Given the description of an element on the screen output the (x, y) to click on. 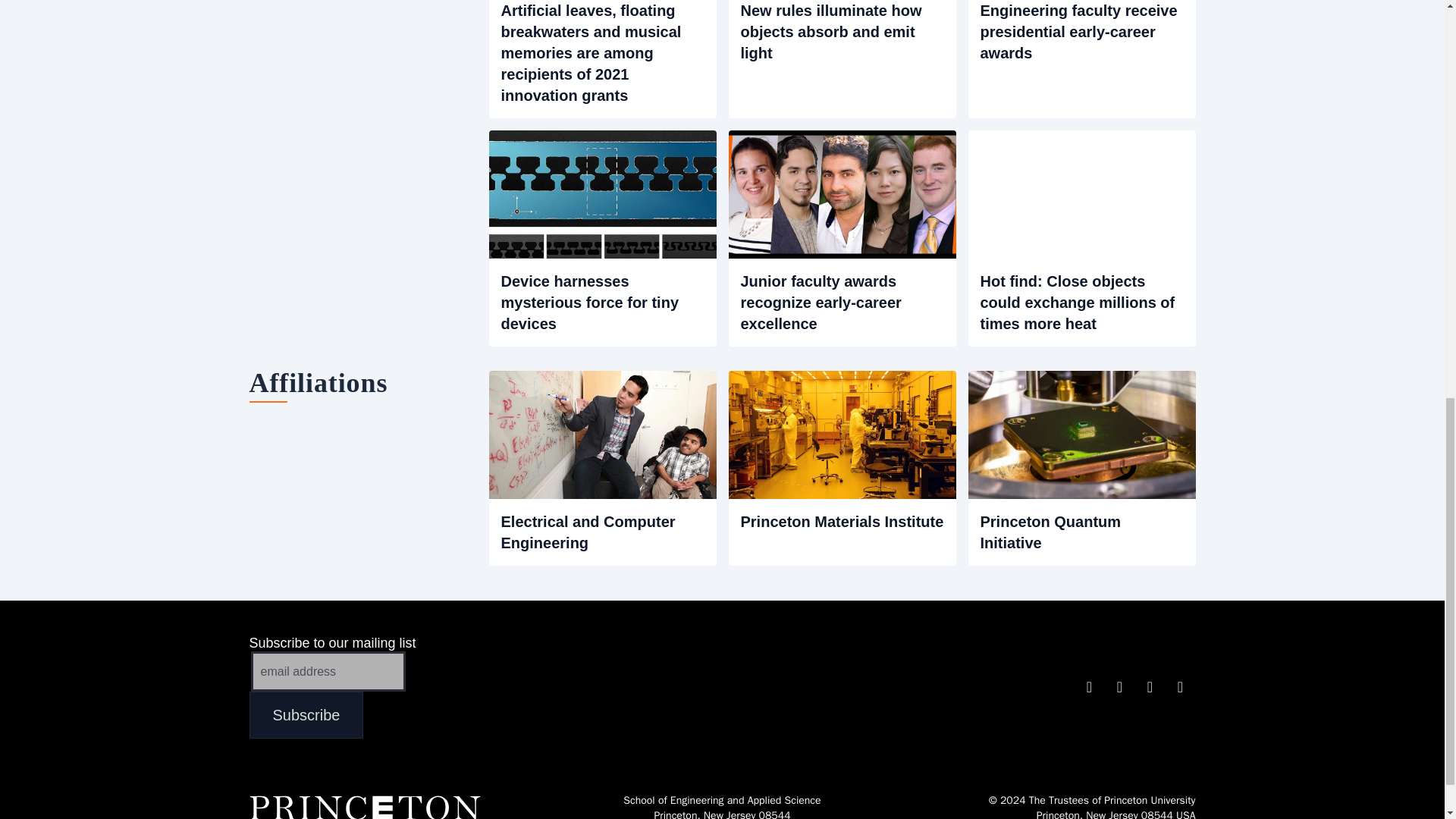
Subscribe (305, 714)
